Given the description of an element on the screen output the (x, y) to click on. 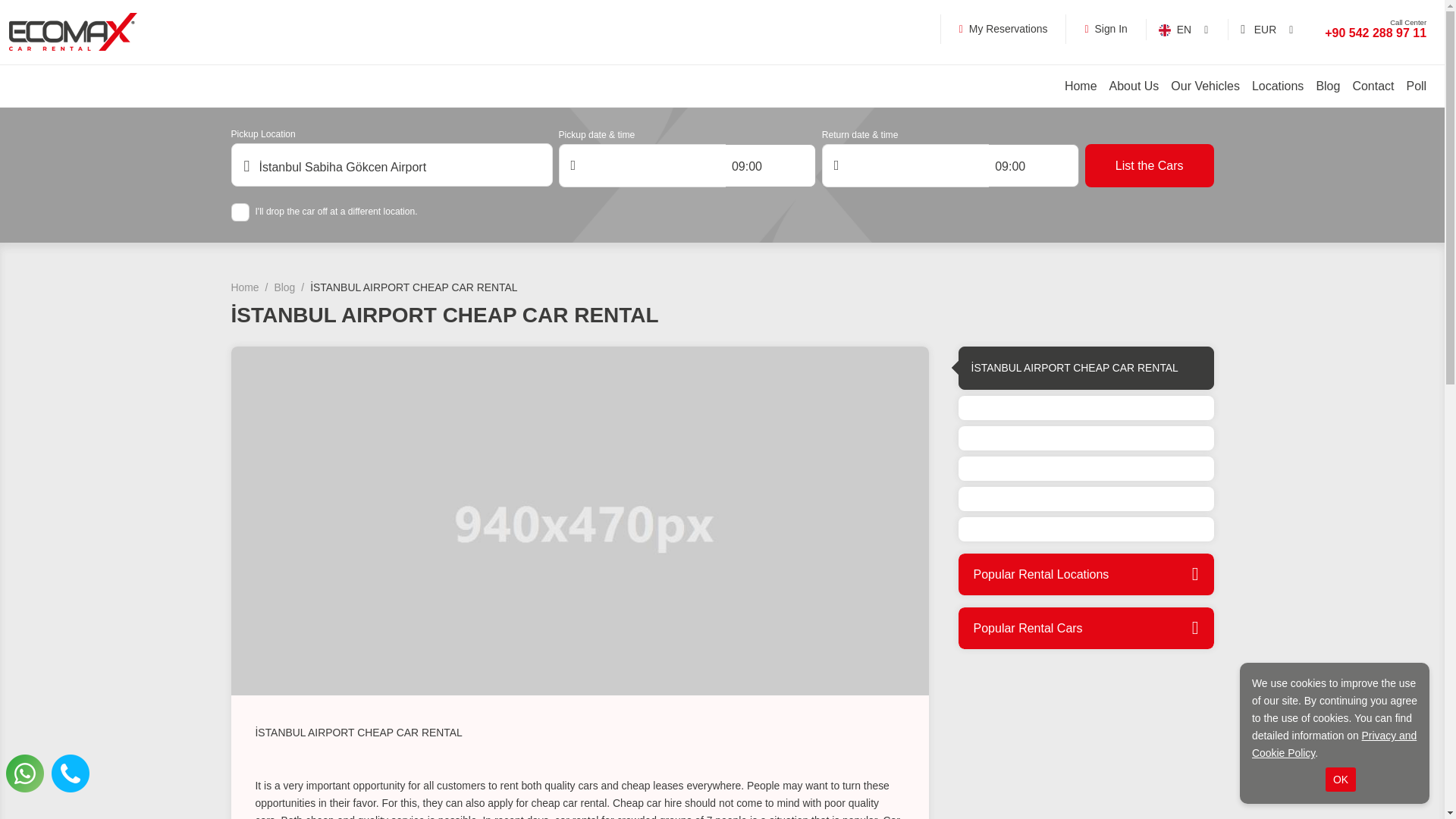
Popular Rental Locations (1086, 574)
Home (244, 287)
Locations (1277, 85)
Test (390, 164)
Sign In (1105, 29)
Popular Rental Locations (1086, 574)
My Reservations (1003, 29)
Poll (1415, 85)
Locations (1277, 85)
Our Vehicles (1205, 85)
Contact (1372, 85)
Blog (1326, 85)
About Us (1134, 85)
Contact (1372, 85)
About Us (1134, 85)
